Given the description of an element on the screen output the (x, y) to click on. 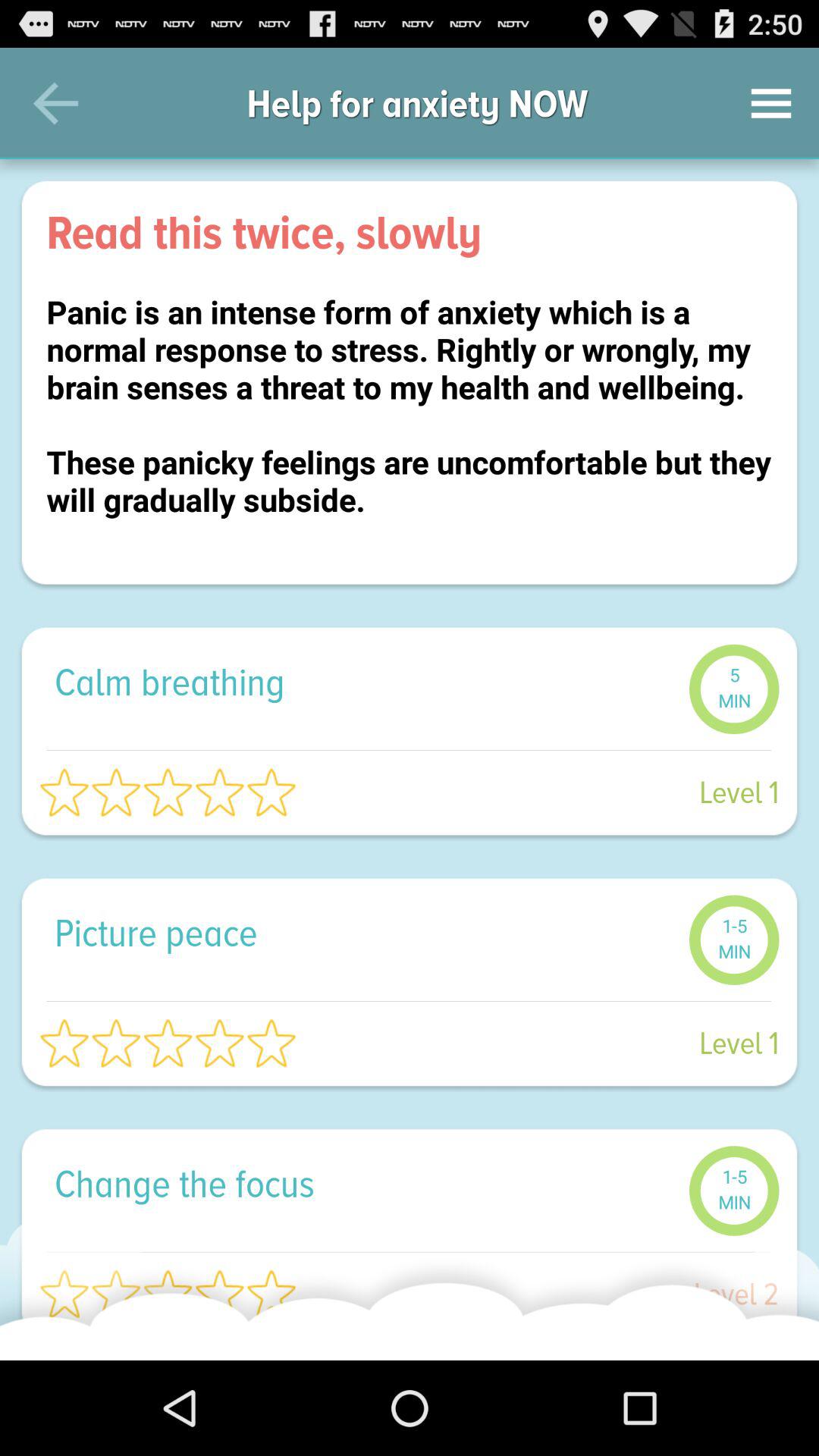
select the item to the right of help for anxiety item (771, 103)
